Given the description of an element on the screen output the (x, y) to click on. 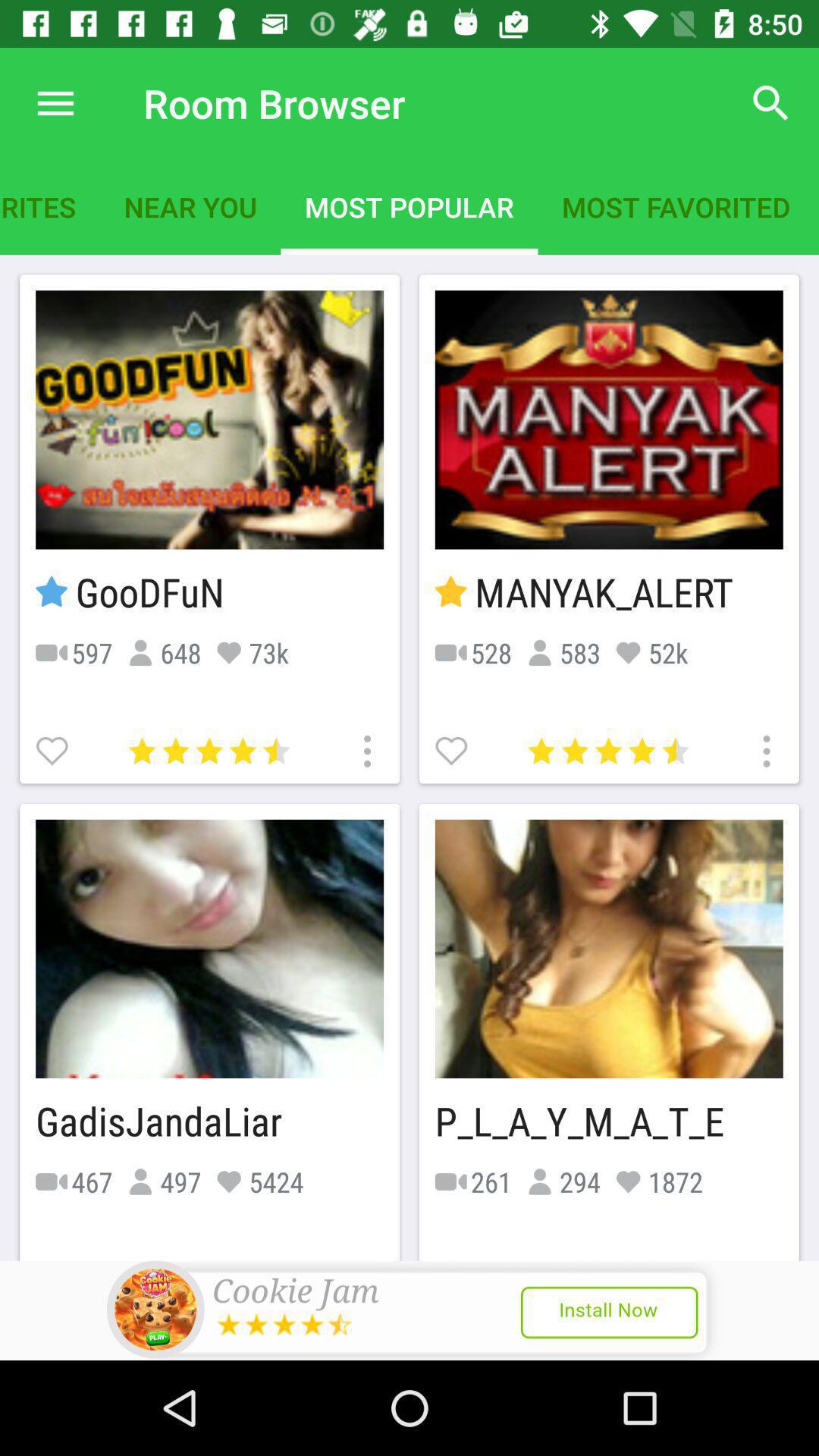
more options (764, 749)
